Given the description of an element on the screen output the (x, y) to click on. 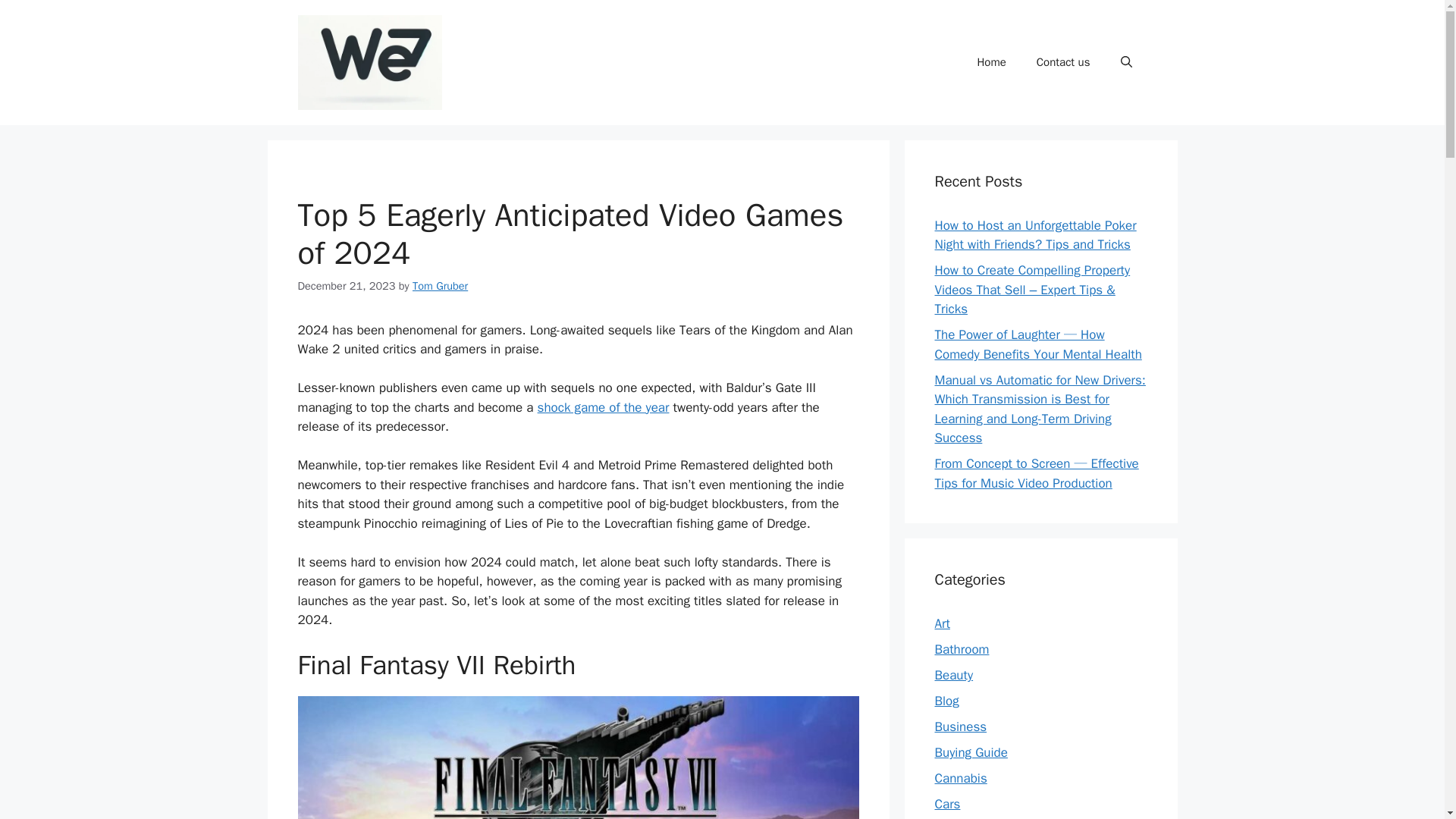
Cannabis (960, 778)
Beauty (953, 675)
Bathroom (961, 649)
shock game of the year (603, 407)
Blog (946, 700)
Buying Guide (970, 752)
View all posts by Tom Gruber (439, 285)
Home (990, 62)
Business (960, 726)
